Given the description of an element on the screen output the (x, y) to click on. 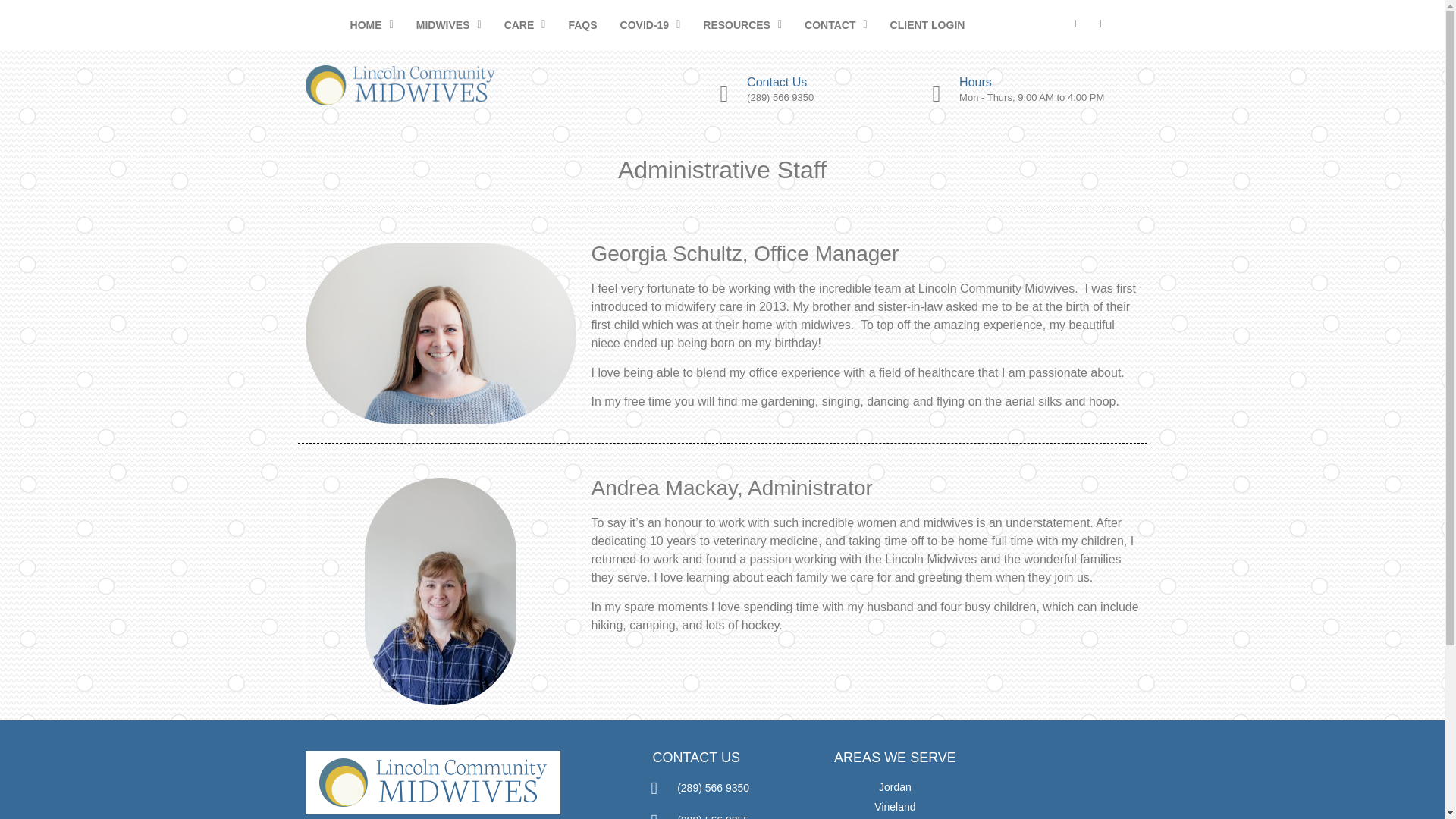
CARE (525, 24)
HOME (371, 24)
CLIENT LOGIN (927, 24)
FAQS (582, 24)
CONTACT (836, 24)
MIDWIVES (448, 24)
COVID-19 (650, 24)
RESOURCES (742, 24)
